Given the description of an element on the screen output the (x, y) to click on. 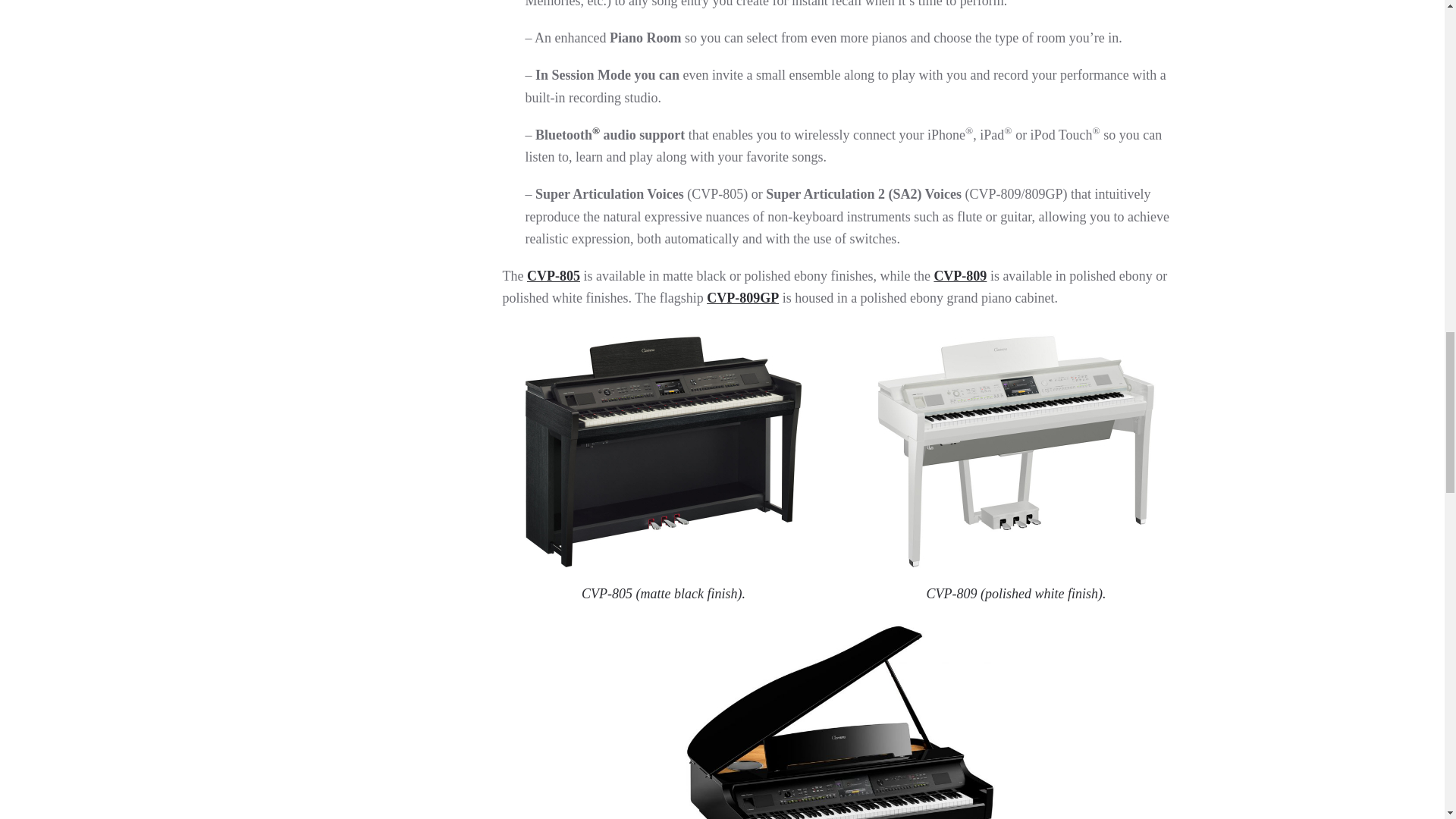
CVP-805 (553, 275)
CVP 805 Body Image 1kx800 (663, 465)
CVP 809 Body Image 1kx800 (1016, 465)
cvp 809gp body image 1kx1k (840, 719)
